Given the description of an element on the screen output the (x, y) to click on. 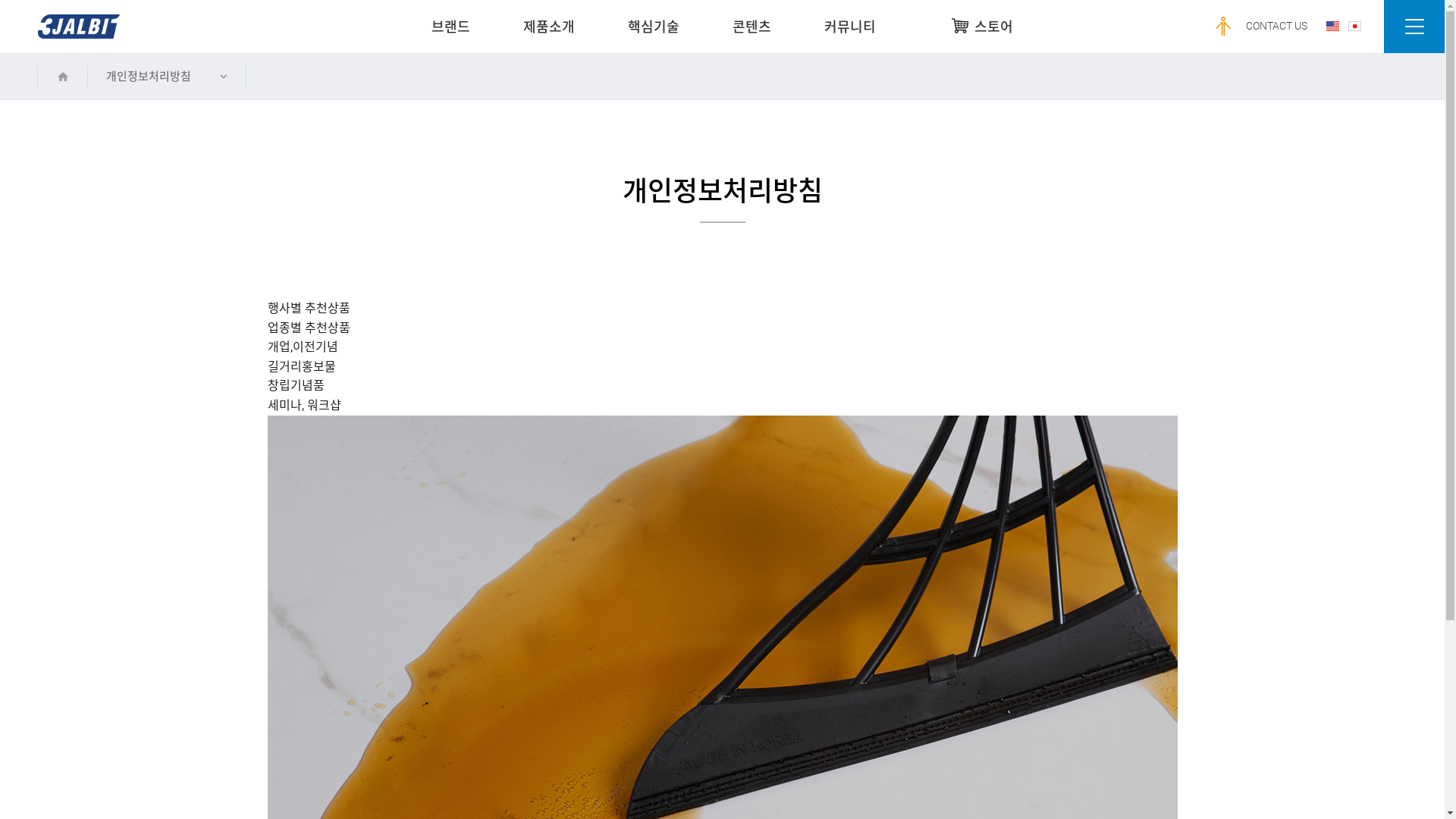
HOME Element type: text (62, 76)
CONTACT US Element type: text (1276, 26)
